Given the description of an element on the screen output the (x, y) to click on. 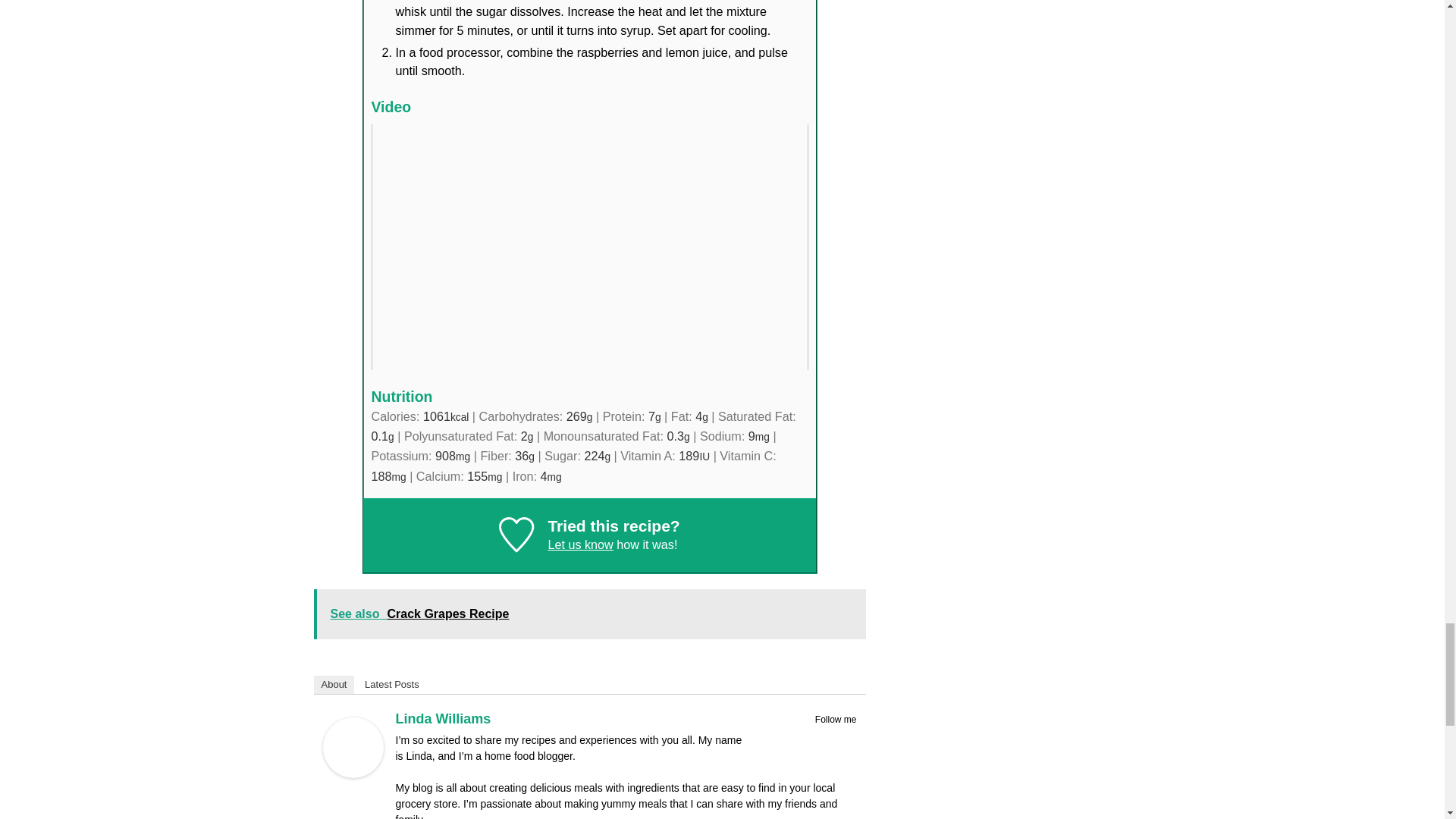
Facebook (806, 737)
Linda Williams (353, 773)
About (334, 684)
Pinterest (825, 737)
Let us know (579, 544)
Linda Williams (444, 718)
Latest Posts (391, 684)
See also  Crack Grapes Recipe (590, 613)
YouTube (846, 737)
